Given the description of an element on the screen output the (x, y) to click on. 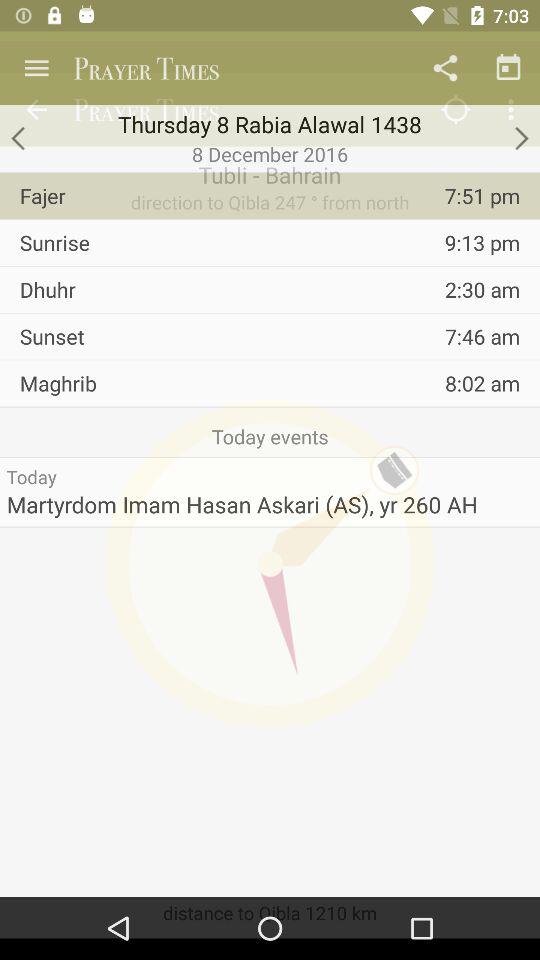
go forward (520, 138)
